Given the description of an element on the screen output the (x, y) to click on. 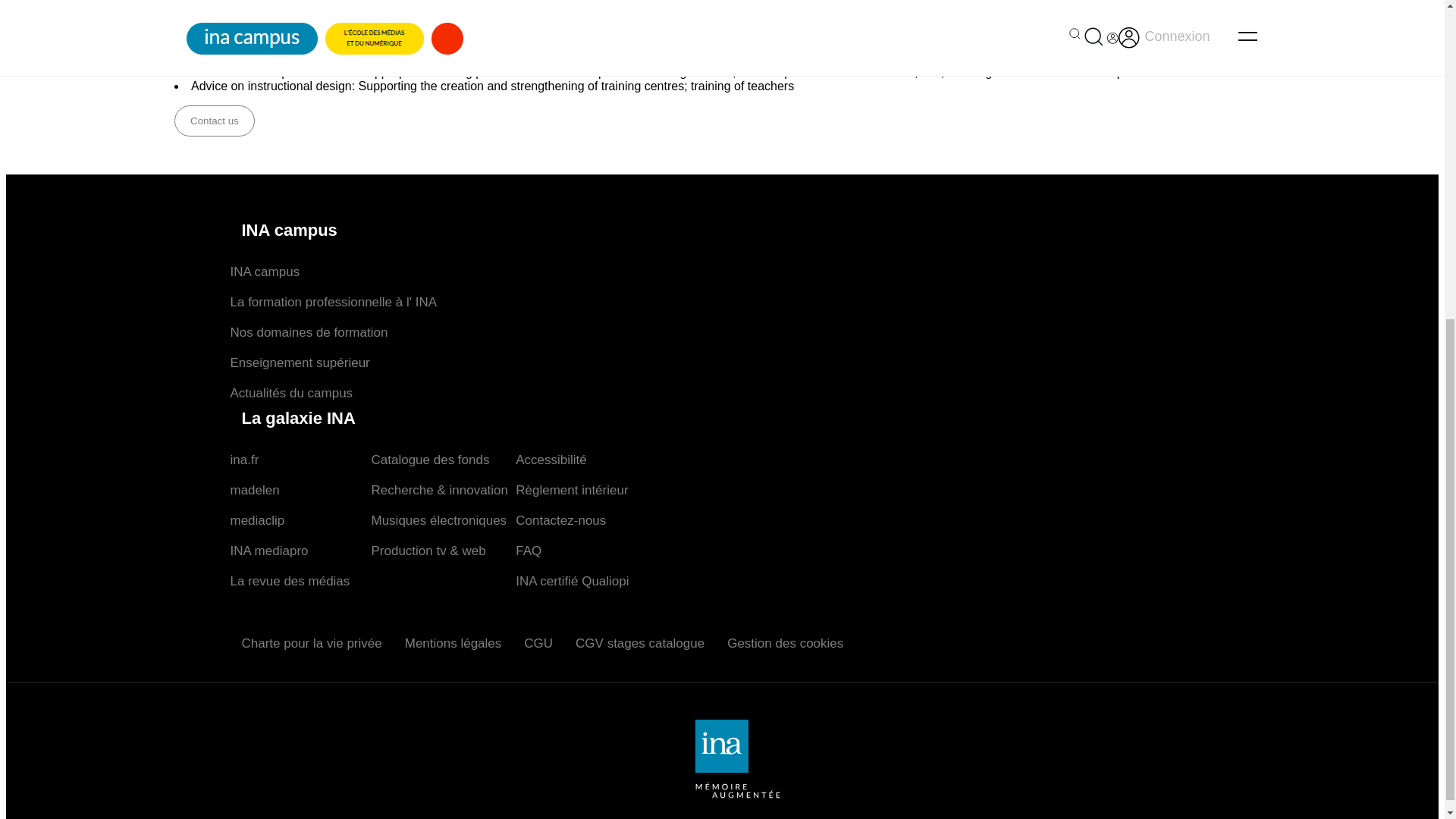
Nos domaines de formation (309, 332)
Contact us (214, 120)
Contact us (214, 119)
INA campus (264, 271)
